Given the description of an element on the screen output the (x, y) to click on. 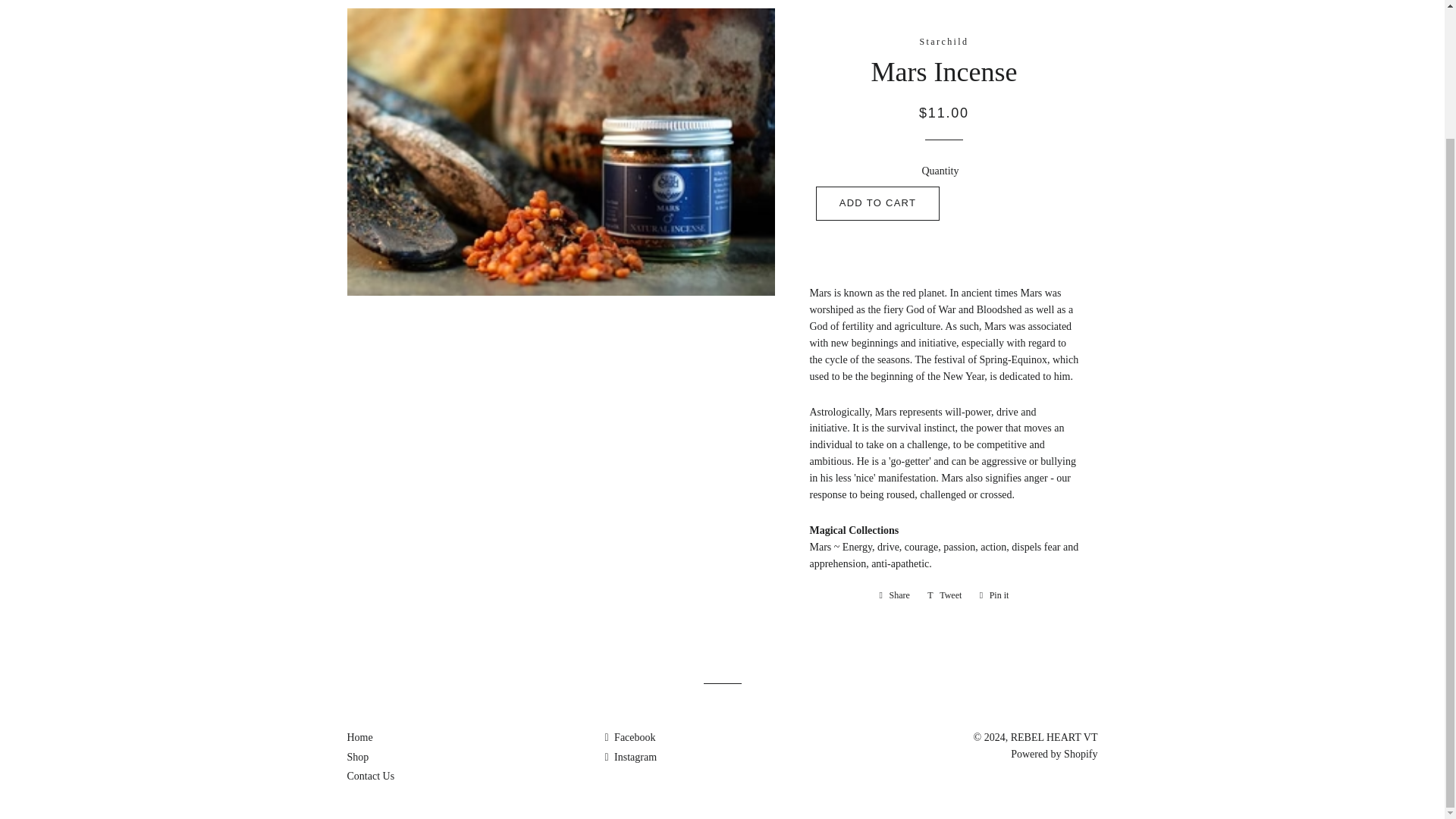
Tweet on Twitter (944, 595)
REBEL HEART VT on Instagram (630, 756)
Pin on Pinterest (994, 595)
Share on Facebook (894, 595)
REBEL HEART VT on Facebook (629, 737)
ADD TO CART (877, 203)
